Given the description of an element on the screen output the (x, y) to click on. 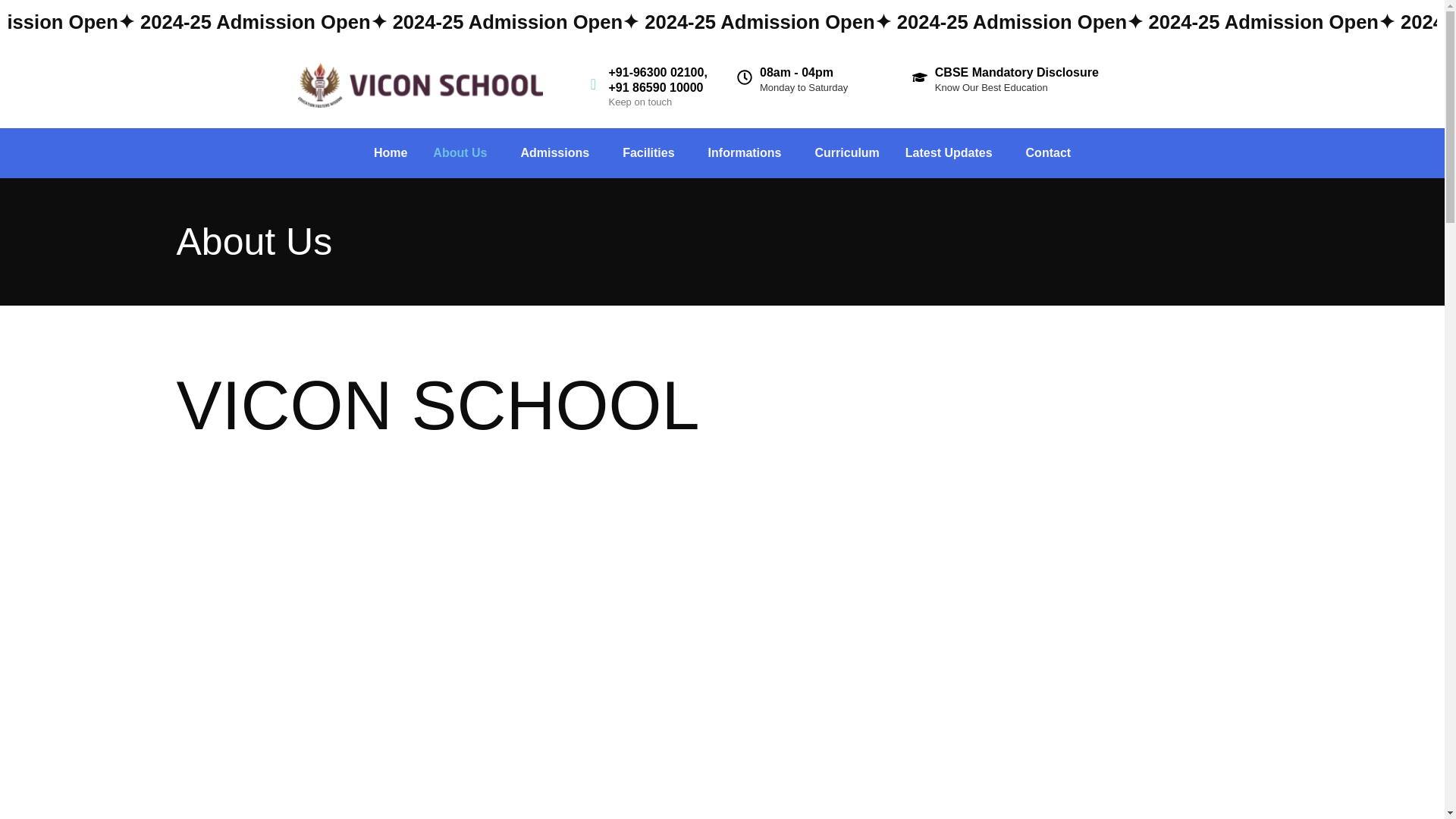
Latest Updates (952, 152)
CBSE Mandatory Disclosure (1016, 72)
Home (390, 152)
Informations (748, 152)
About Us (463, 152)
Contact (1048, 152)
Curriculum (847, 152)
Admissions (558, 152)
Facilities (652, 152)
